Given the description of an element on the screen output the (x, y) to click on. 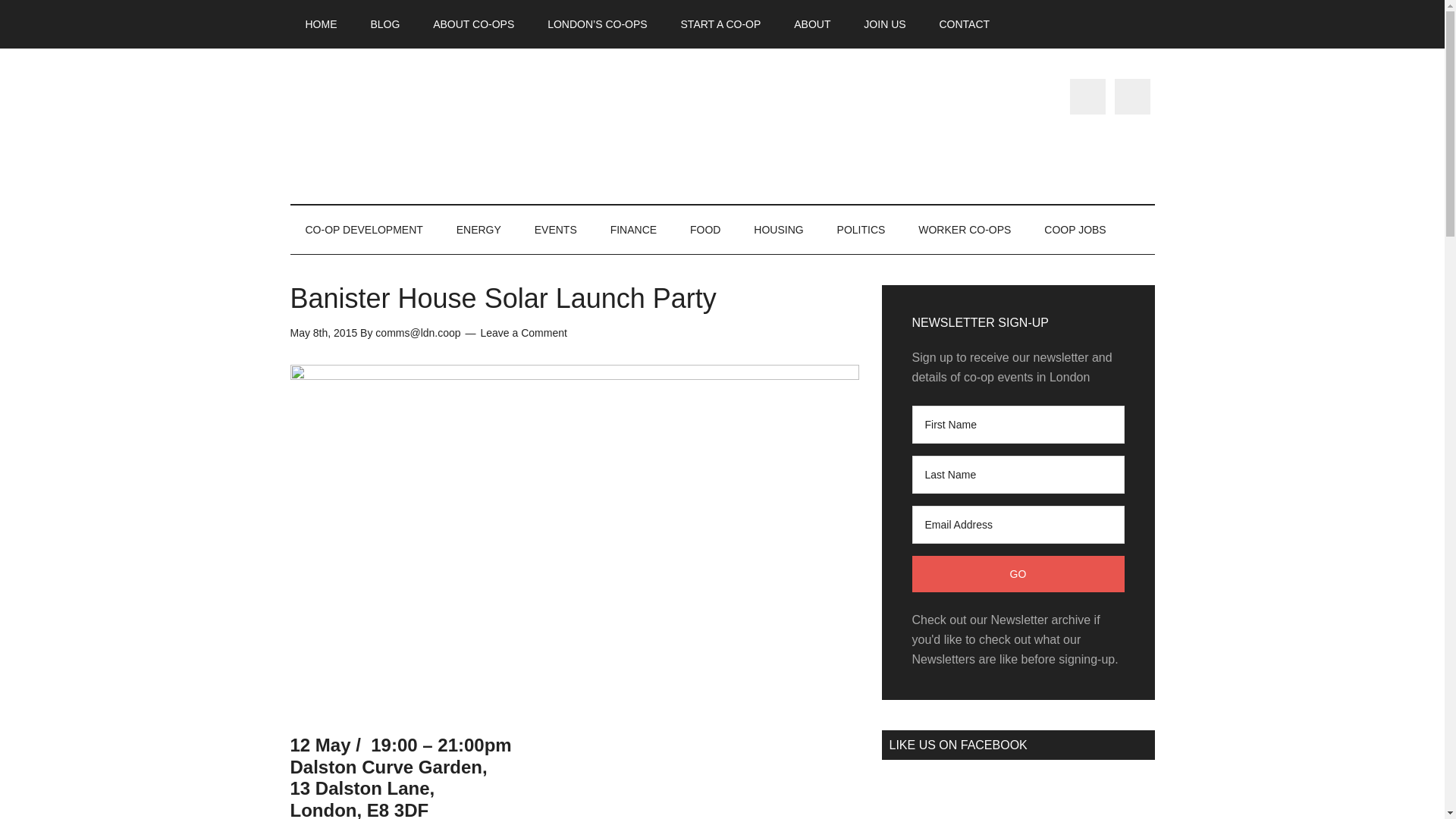
WORKER CO-OPS (964, 229)
Co-operatives London (433, 125)
FINANCE (633, 229)
ABOUT (811, 24)
BLOG (384, 24)
CONTACT (963, 24)
ABOUT CO-OPS (473, 24)
FOOD (705, 229)
POLITICS (861, 229)
Go (1017, 574)
CO-OP DEVELOPMENT (363, 229)
COOP JOBS (1075, 229)
HOUSING (778, 229)
EVENTS (555, 229)
ENERGY (478, 229)
